Given the description of an element on the screen output the (x, y) to click on. 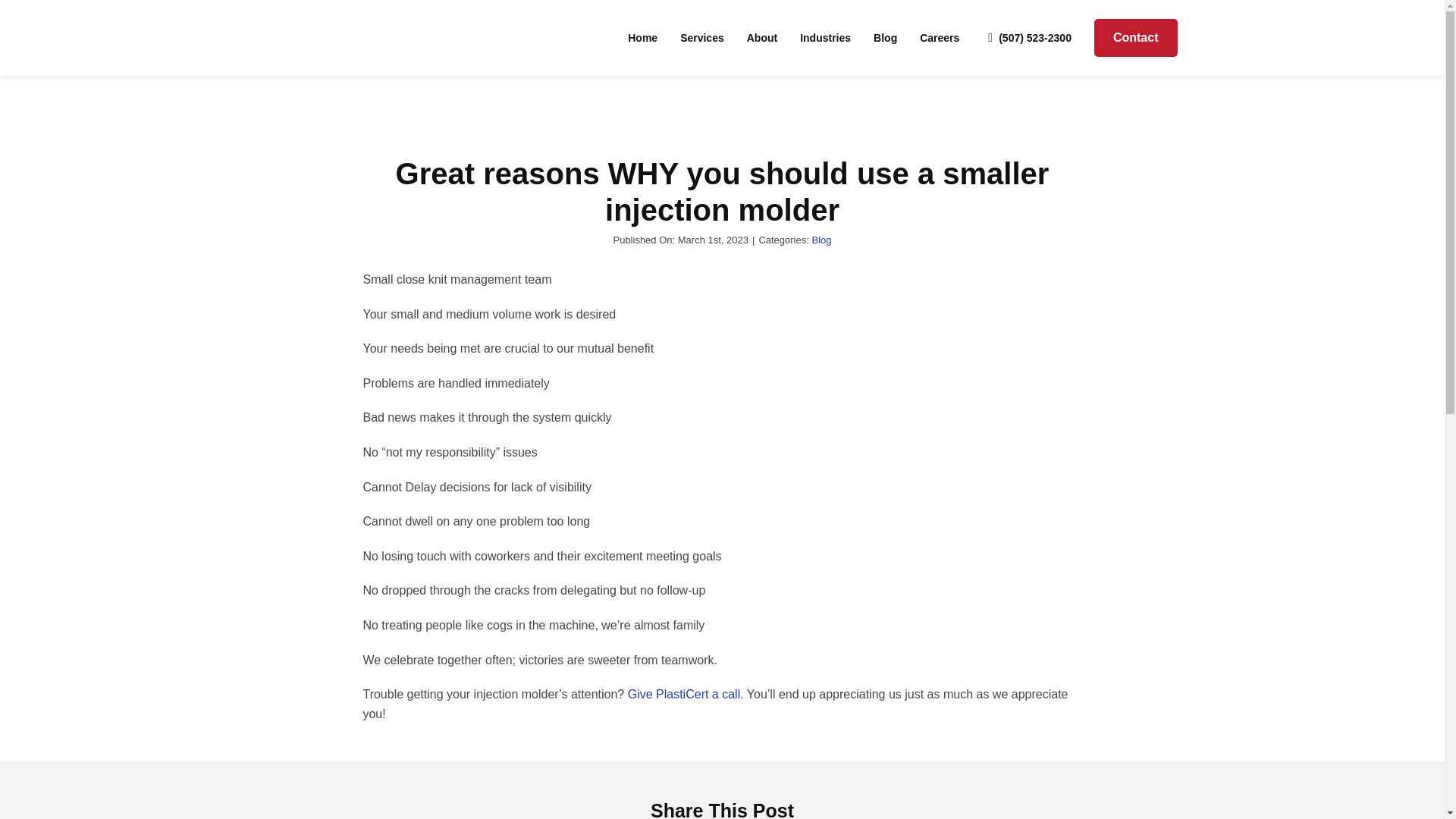
Give PlastiCert a call. (685, 694)
Industries (824, 37)
Careers (939, 37)
Blog (820, 238)
Services (701, 37)
Contact (1135, 37)
